Given the description of an element on the screen output the (x, y) to click on. 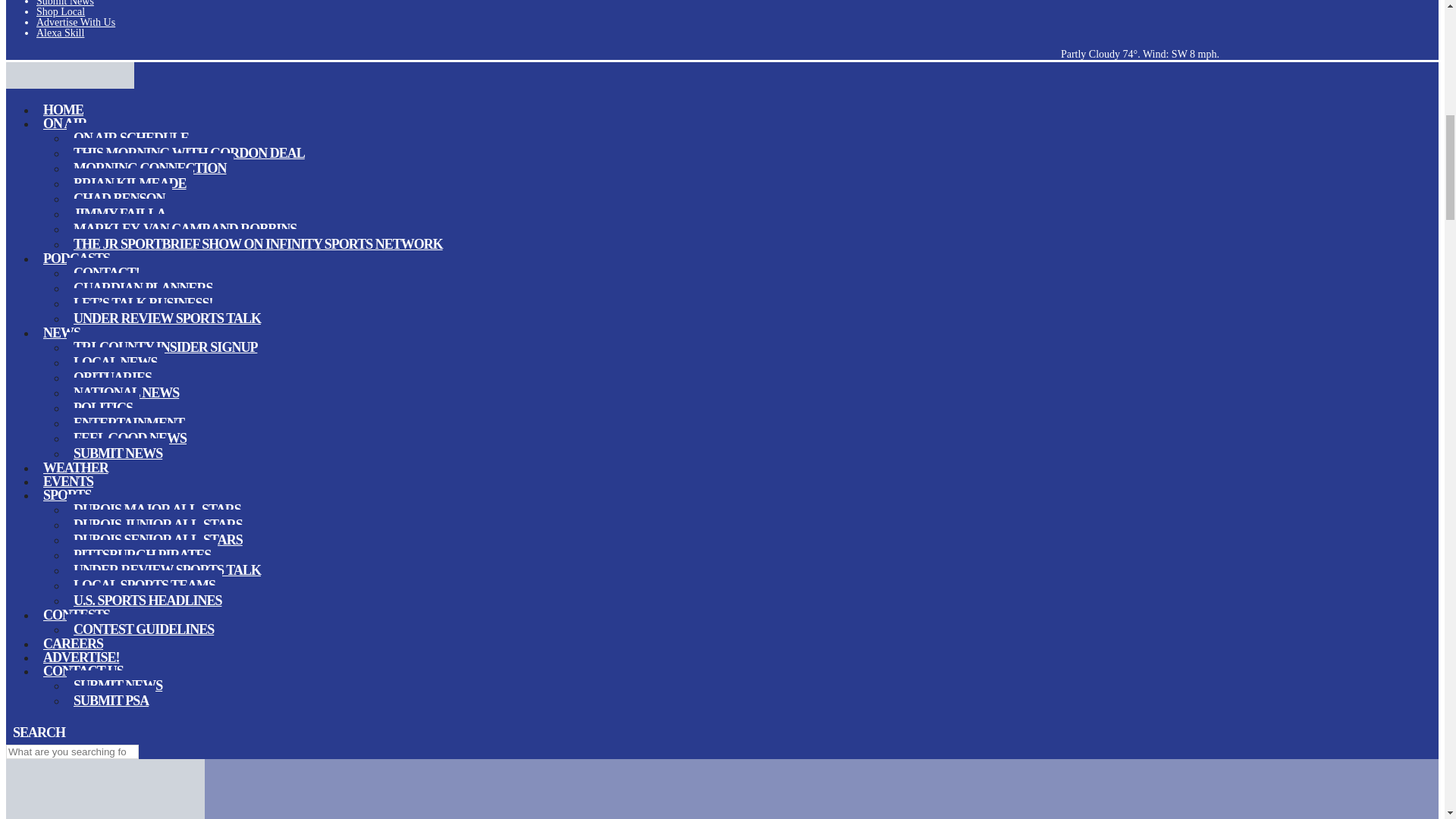
Search for: (71, 751)
